Given the description of an element on the screen output the (x, y) to click on. 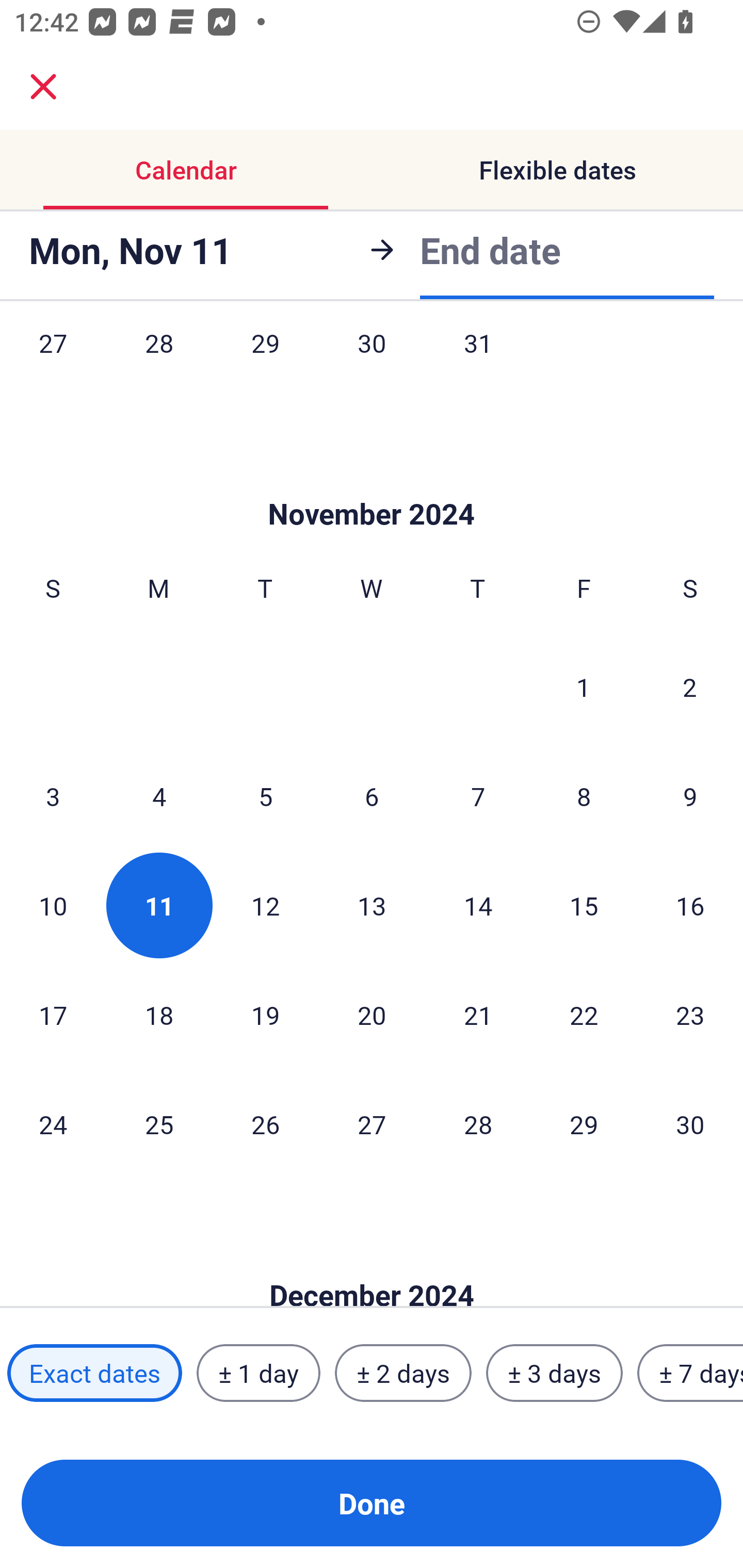
close. (43, 86)
Flexible dates (557, 170)
End date (489, 249)
27 Sunday, October 27, 2024 (53, 362)
28 Monday, October 28, 2024 (159, 362)
29 Tuesday, October 29, 2024 (265, 362)
30 Wednesday, October 30, 2024 (371, 362)
31 Thursday, October 31, 2024 (477, 362)
Skip to Done (371, 483)
1 Friday, November 1, 2024 (583, 686)
2 Saturday, November 2, 2024 (689, 686)
3 Sunday, November 3, 2024 (53, 795)
4 Monday, November 4, 2024 (159, 795)
5 Tuesday, November 5, 2024 (265, 795)
6 Wednesday, November 6, 2024 (371, 795)
7 Thursday, November 7, 2024 (477, 795)
8 Friday, November 8, 2024 (584, 795)
9 Saturday, November 9, 2024 (690, 795)
10 Sunday, November 10, 2024 (53, 905)
12 Tuesday, November 12, 2024 (265, 905)
13 Wednesday, November 13, 2024 (371, 905)
14 Thursday, November 14, 2024 (477, 905)
15 Friday, November 15, 2024 (584, 905)
16 Saturday, November 16, 2024 (690, 905)
17 Sunday, November 17, 2024 (53, 1014)
18 Monday, November 18, 2024 (159, 1014)
19 Tuesday, November 19, 2024 (265, 1014)
20 Wednesday, November 20, 2024 (371, 1014)
21 Thursday, November 21, 2024 (477, 1014)
22 Friday, November 22, 2024 (584, 1014)
23 Saturday, November 23, 2024 (690, 1014)
24 Sunday, November 24, 2024 (53, 1123)
25 Monday, November 25, 2024 (159, 1123)
26 Tuesday, November 26, 2024 (265, 1123)
27 Wednesday, November 27, 2024 (371, 1123)
28 Thursday, November 28, 2024 (477, 1123)
29 Friday, November 29, 2024 (584, 1123)
30 Saturday, November 30, 2024 (690, 1123)
Skip to Done (371, 1263)
Exact dates (94, 1372)
± 1 day (258, 1372)
± 2 days (403, 1372)
± 3 days (553, 1372)
± 7 days (690, 1372)
Done (371, 1502)
